Given the description of an element on the screen output the (x, y) to click on. 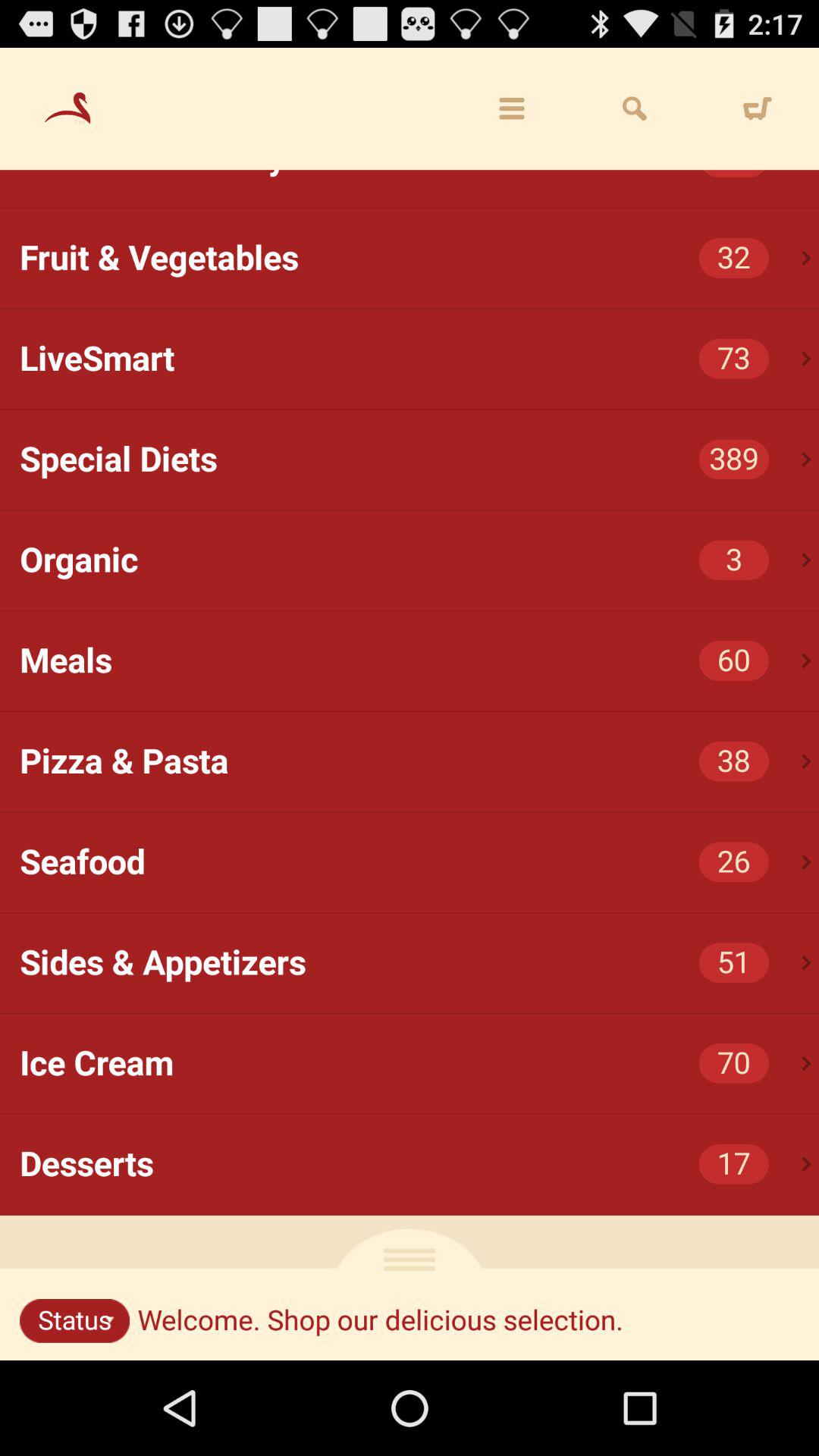
select the 26 item (733, 862)
